Given the description of an element on the screen output the (x, y) to click on. 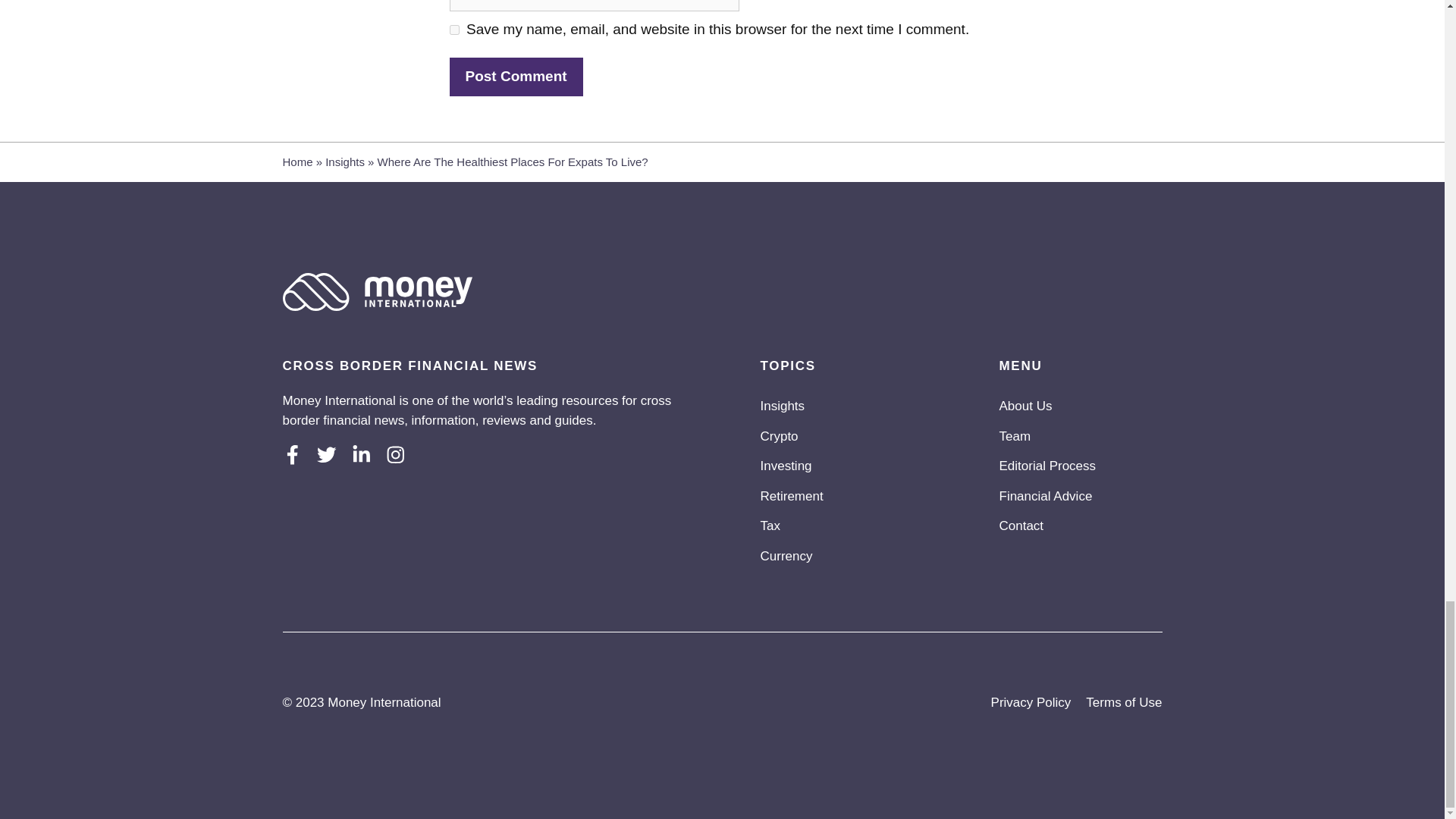
Insights (344, 161)
Post Comment (515, 76)
Post Comment (515, 76)
yes (453, 30)
Home (297, 161)
